Given the description of an element on the screen output the (x, y) to click on. 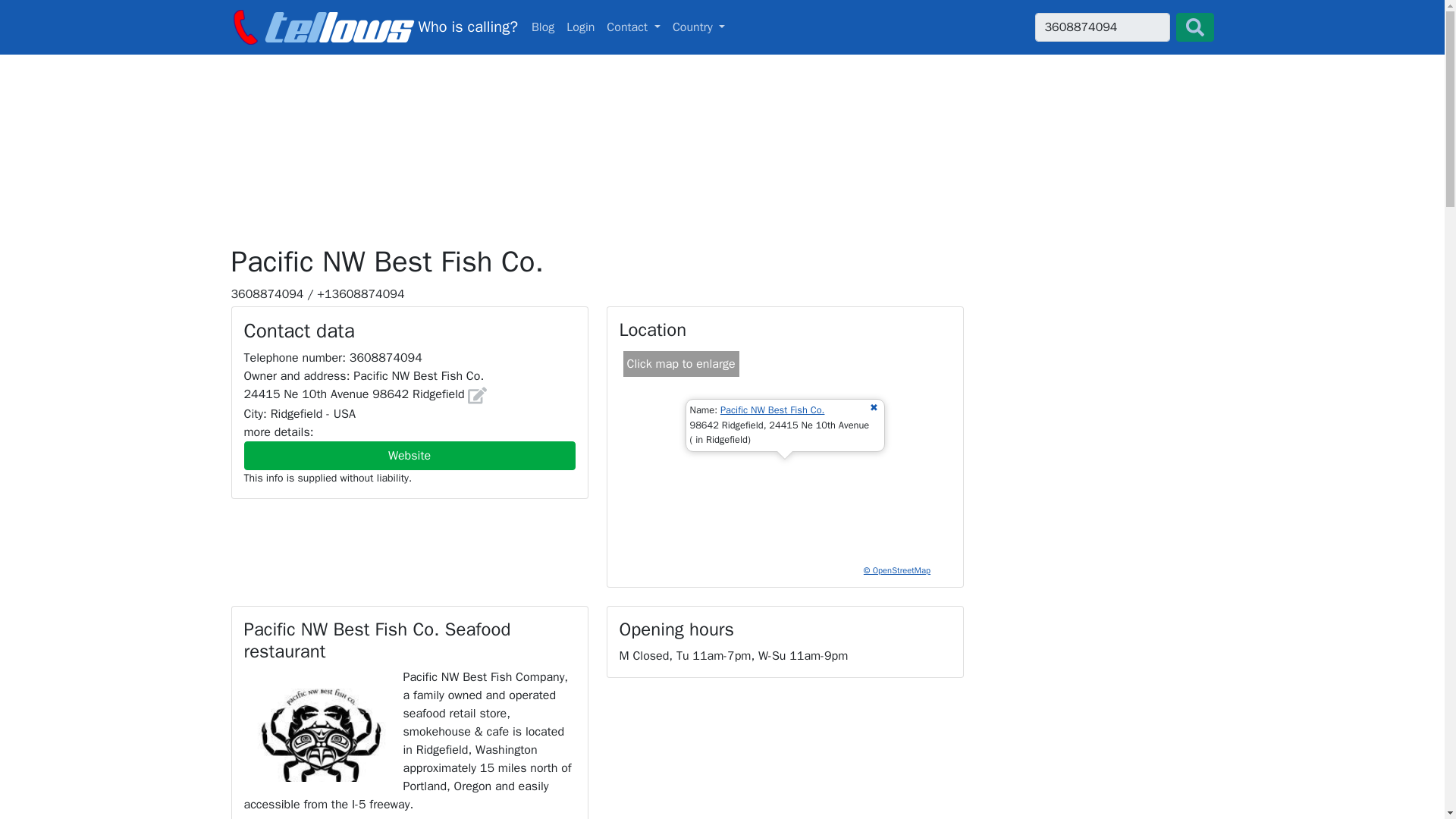
tellows - the community for calls, phone spam and complaints (373, 26)
3608874094 (1101, 27)
Who is calling? (722, 26)
Contact (373, 26)
Login (632, 27)
Country (579, 27)
Pacific NW Best Fish Co. (699, 27)
Blog (772, 410)
Blog (542, 27)
